Given the description of an element on the screen output the (x, y) to click on. 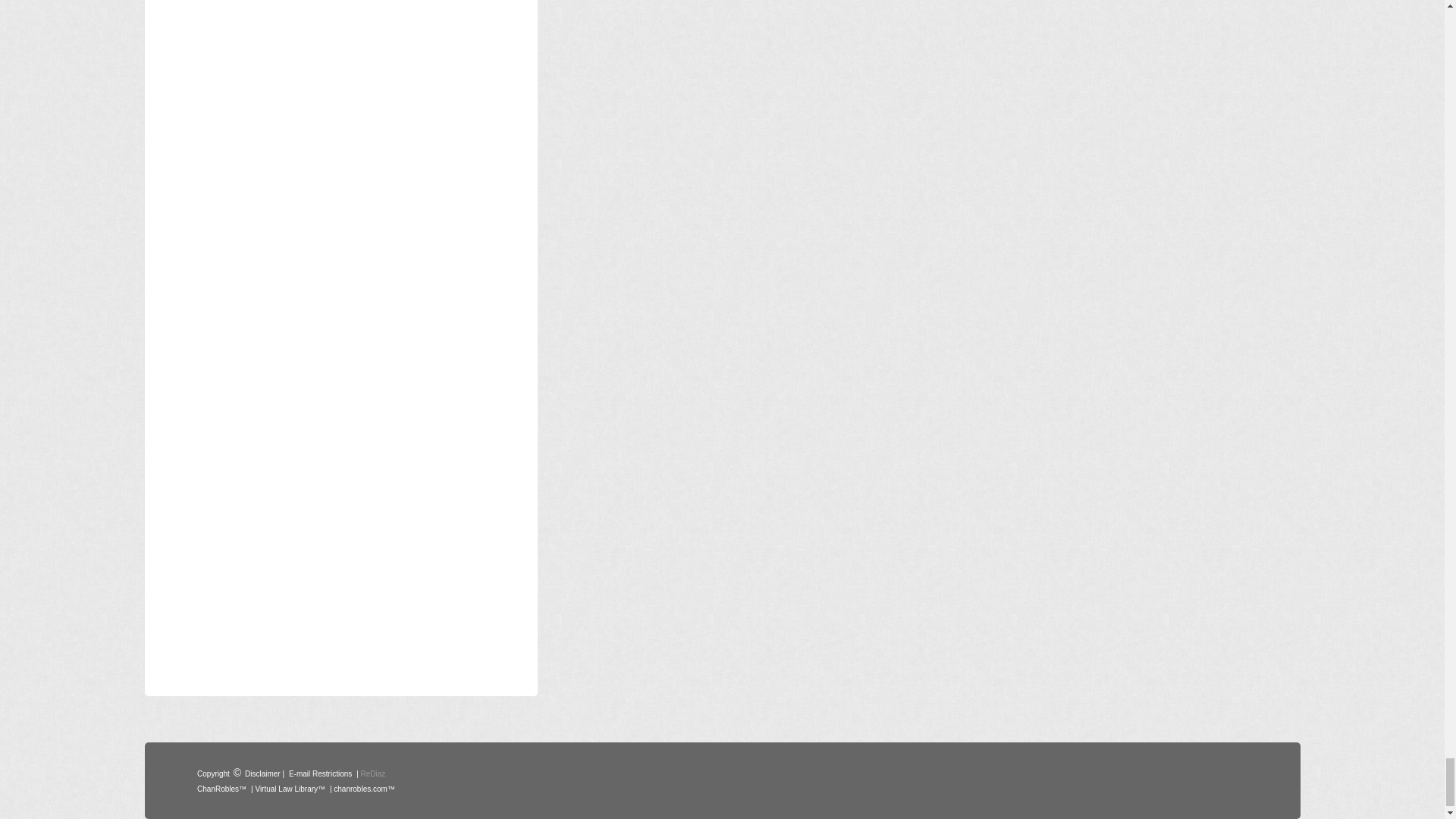
Copyright (213, 772)
E-mail Restrictions (320, 772)
